Given the description of an element on the screen output the (x, y) to click on. 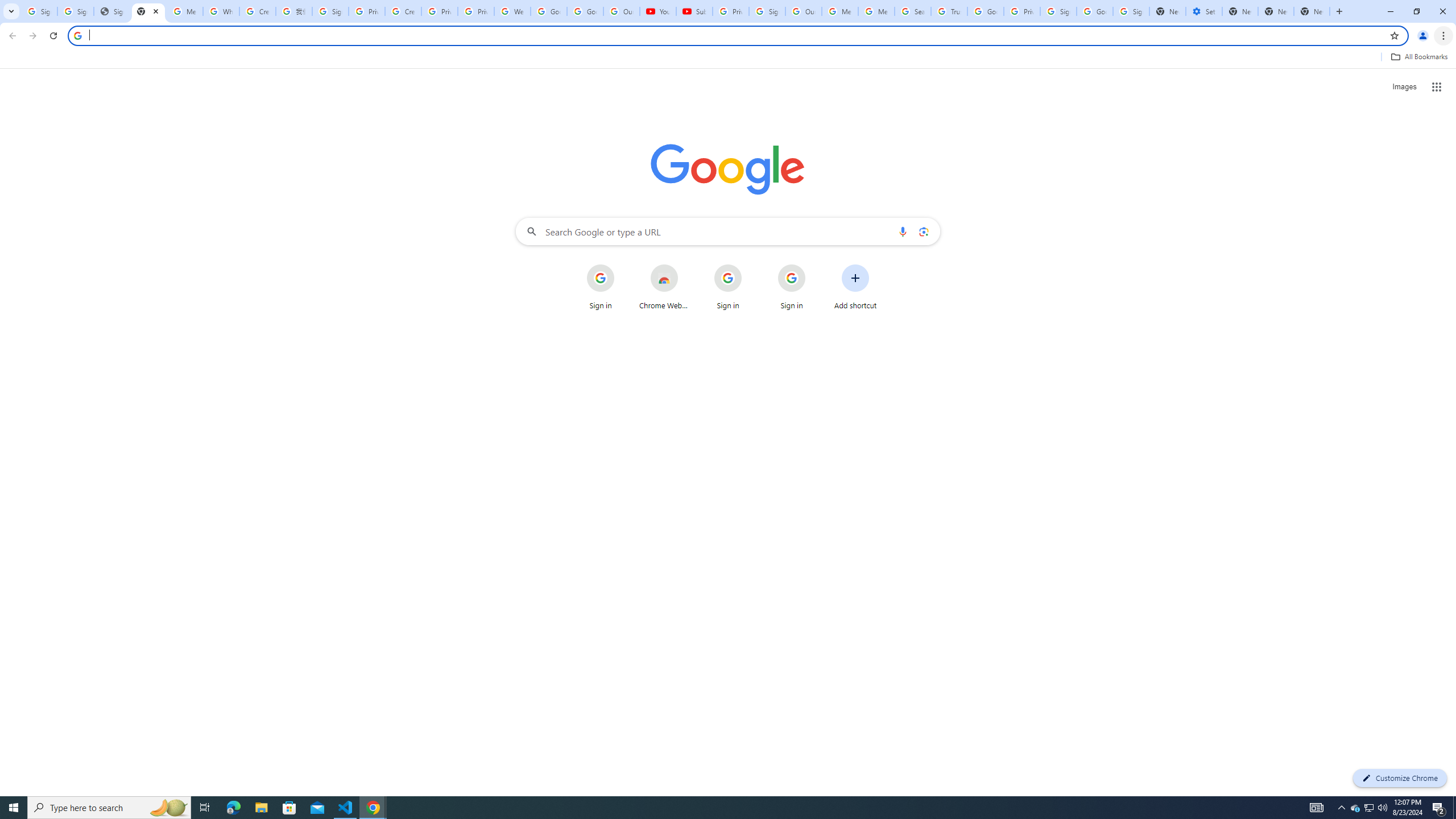
YouTube (657, 11)
More actions for Sign in shortcut (814, 265)
Bookmark this tab (1393, 35)
Back (10, 35)
Sign in - Google Accounts (767, 11)
Reload (52, 35)
All Bookmarks (1418, 56)
Address and search bar (735, 35)
Search Google or type a URL (727, 230)
Google Cybersecurity Innovations - Google Safety Center (1094, 11)
Sign in - Google Accounts (330, 11)
